Given the description of an element on the screen output the (x, y) to click on. 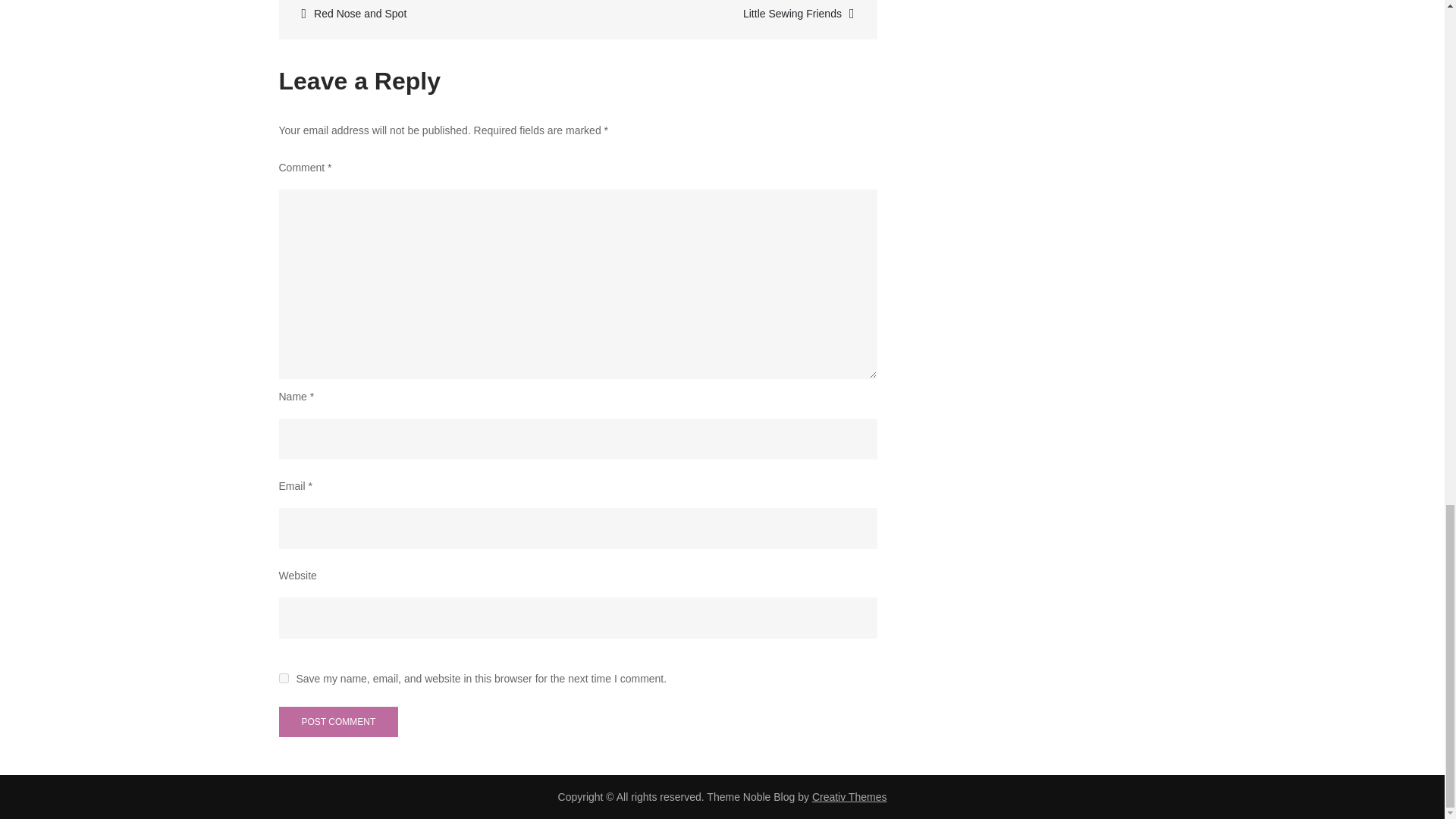
Red Nose and Spot (430, 13)
Creativ Themes (849, 797)
Post Comment (338, 721)
yes (283, 678)
Little Sewing Friends (725, 13)
Post Comment (338, 721)
